Given the description of an element on the screen output the (x, y) to click on. 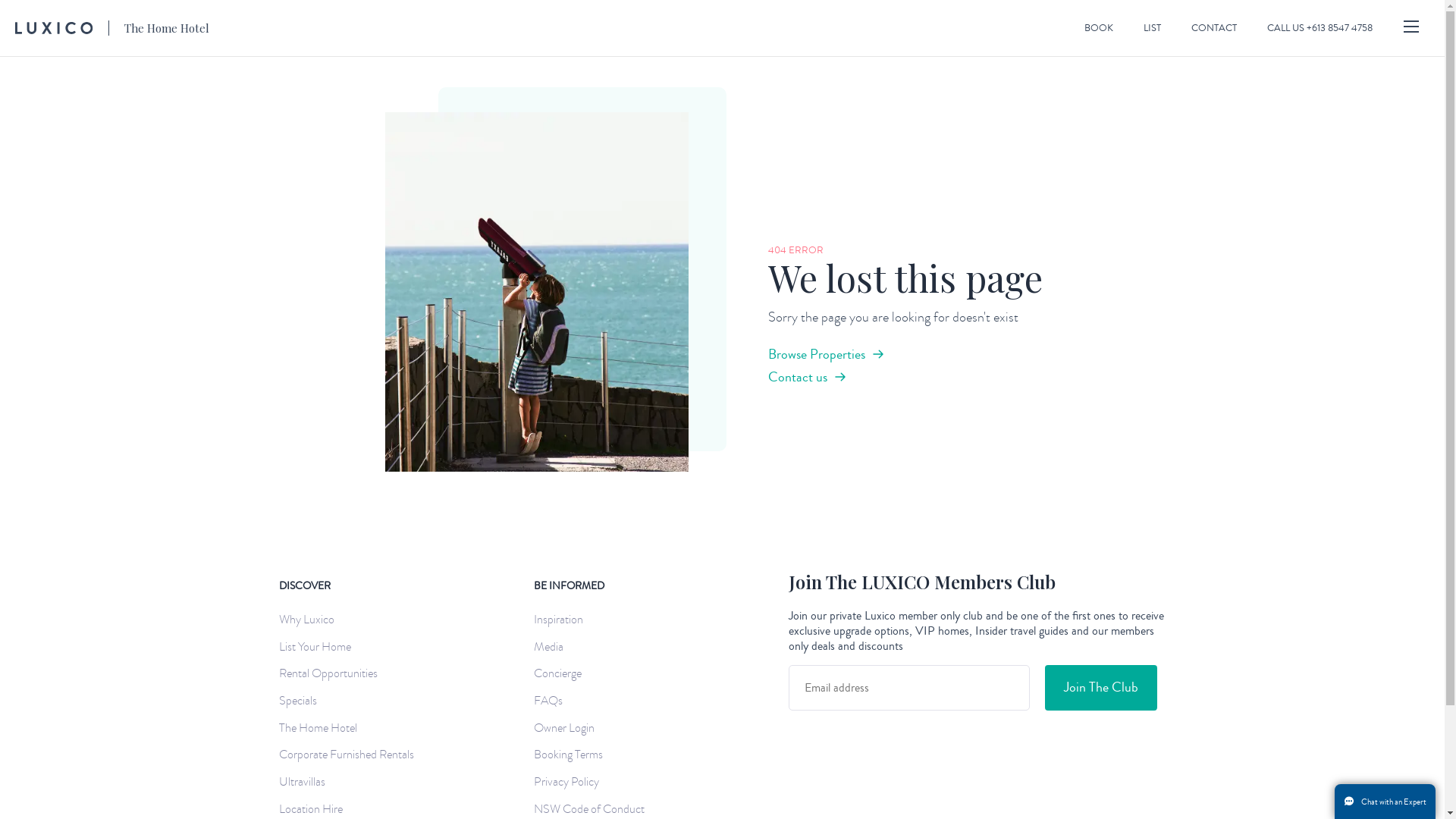
Owner Login Element type: text (567, 728)
Corporate Furnished Rentals Element type: text (350, 754)
Media Element type: text (552, 646)
CONTACT Element type: text (1213, 27)
Rental Opportunities Element type: text (332, 673)
The Home Hotel Element type: text (321, 728)
Join The Club Element type: text (1100, 687)
Why Luxico Element type: text (310, 619)
List Your Home Element type: text (318, 646)
LIST Element type: text (1152, 27)
Booking Terms Element type: text (571, 754)
Privacy Policy Element type: text (569, 781)
The Home Hotel Element type: text (112, 27)
CALL US +613 8547 4758 Element type: text (1319, 27)
Inspiration Element type: text (561, 619)
Ultravillas Element type: text (305, 781)
FAQs Element type: text (551, 700)
BOOK Element type: text (1098, 27)
Specials Element type: text (301, 700)
Concierge Element type: text (561, 673)
